Given the description of an element on the screen output the (x, y) to click on. 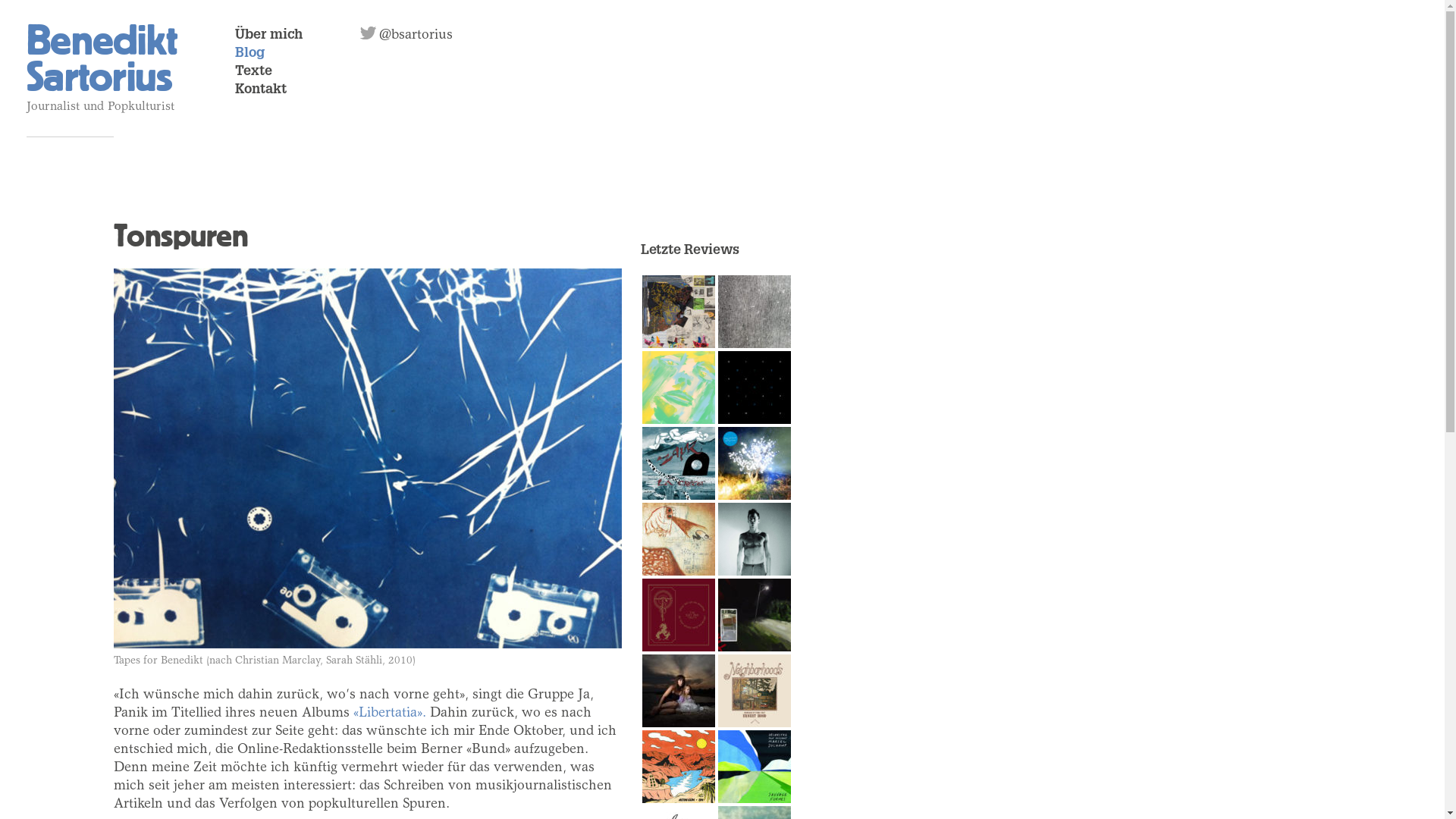
Zayk Element type: hover (678, 462)
Blog Element type: text (249, 53)
@bsartorius Element type: text (369, 32)
Texte Element type: text (253, 71)
Tonspuren Element type: text (180, 236)
Benedikt
Sartorius Element type: text (101, 58)
Kontakt Element type: text (260, 90)
Gute Vibrationen Element type: hover (678, 766)
